Given the description of an element on the screen output the (x, y) to click on. 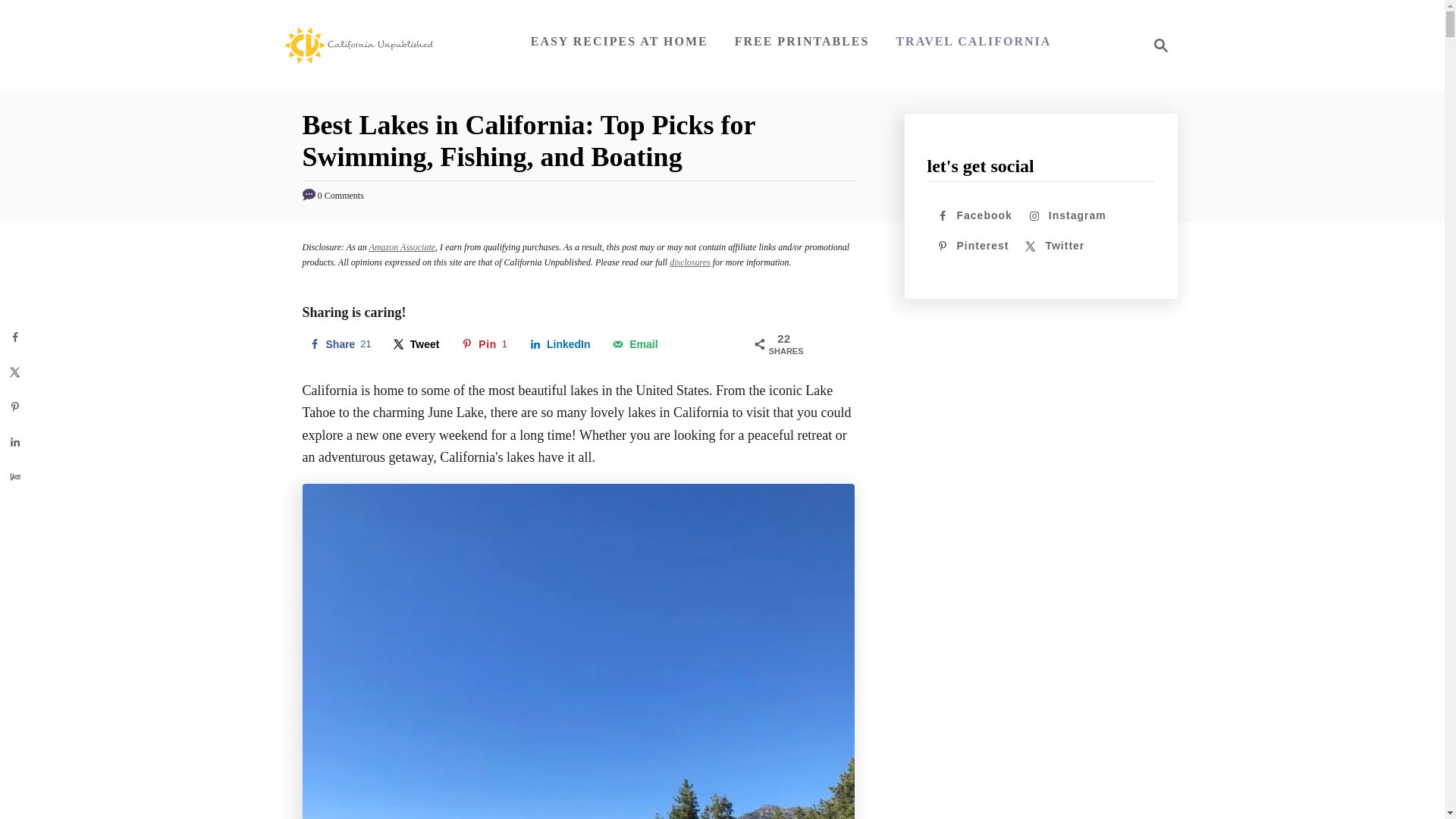
Save to Pinterest (483, 344)
EASY RECIPES AT HOME (619, 41)
Amazon Associate (402, 246)
Share on LinkedIn (339, 344)
TRAVEL CALIFORNIA (559, 344)
Magnifying Glass (973, 41)
Instagram (483, 344)
